Given the description of an element on the screen output the (x, y) to click on. 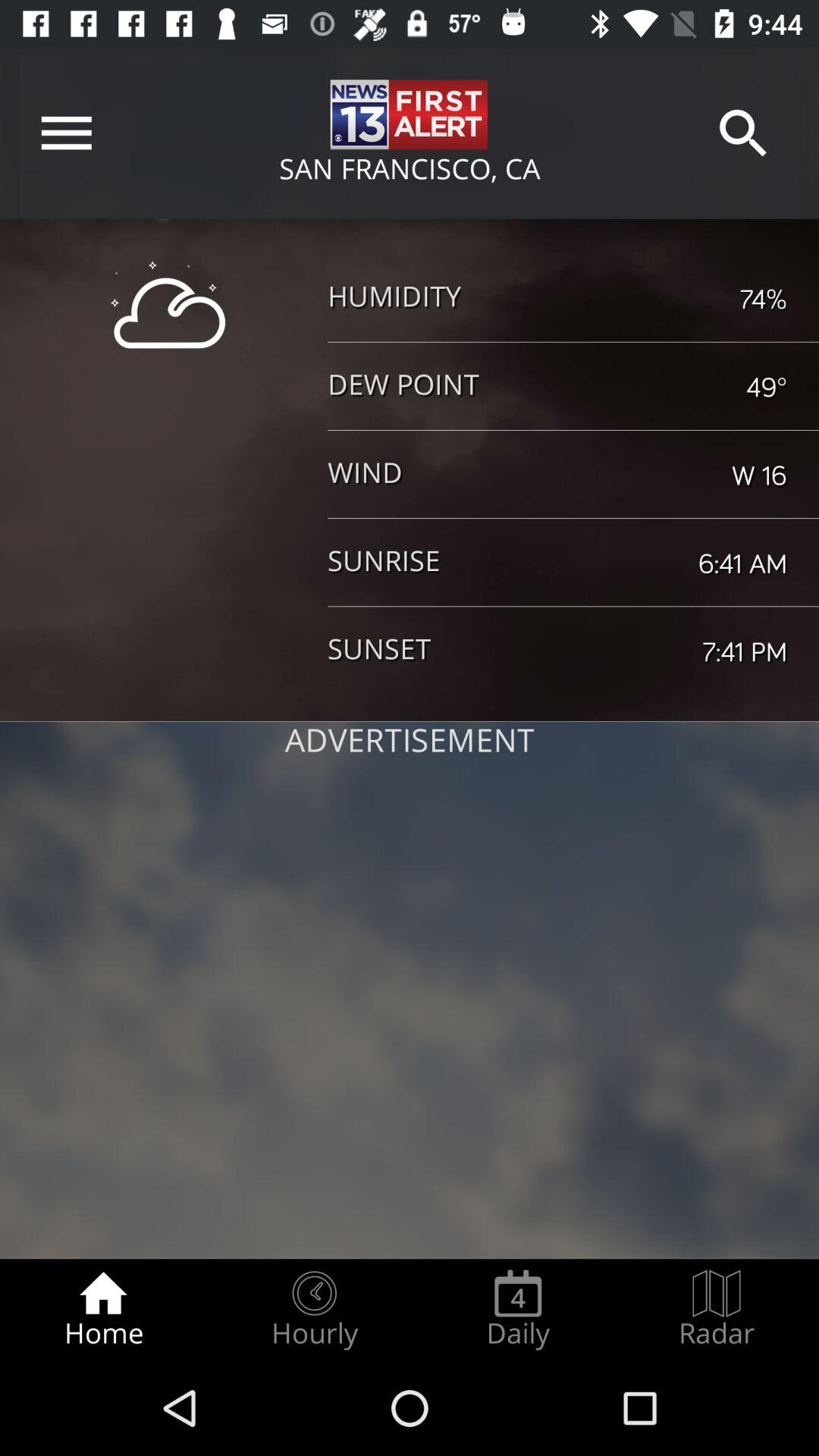
press the icon next to daily icon (716, 1309)
